Given the description of an element on the screen output the (x, y) to click on. 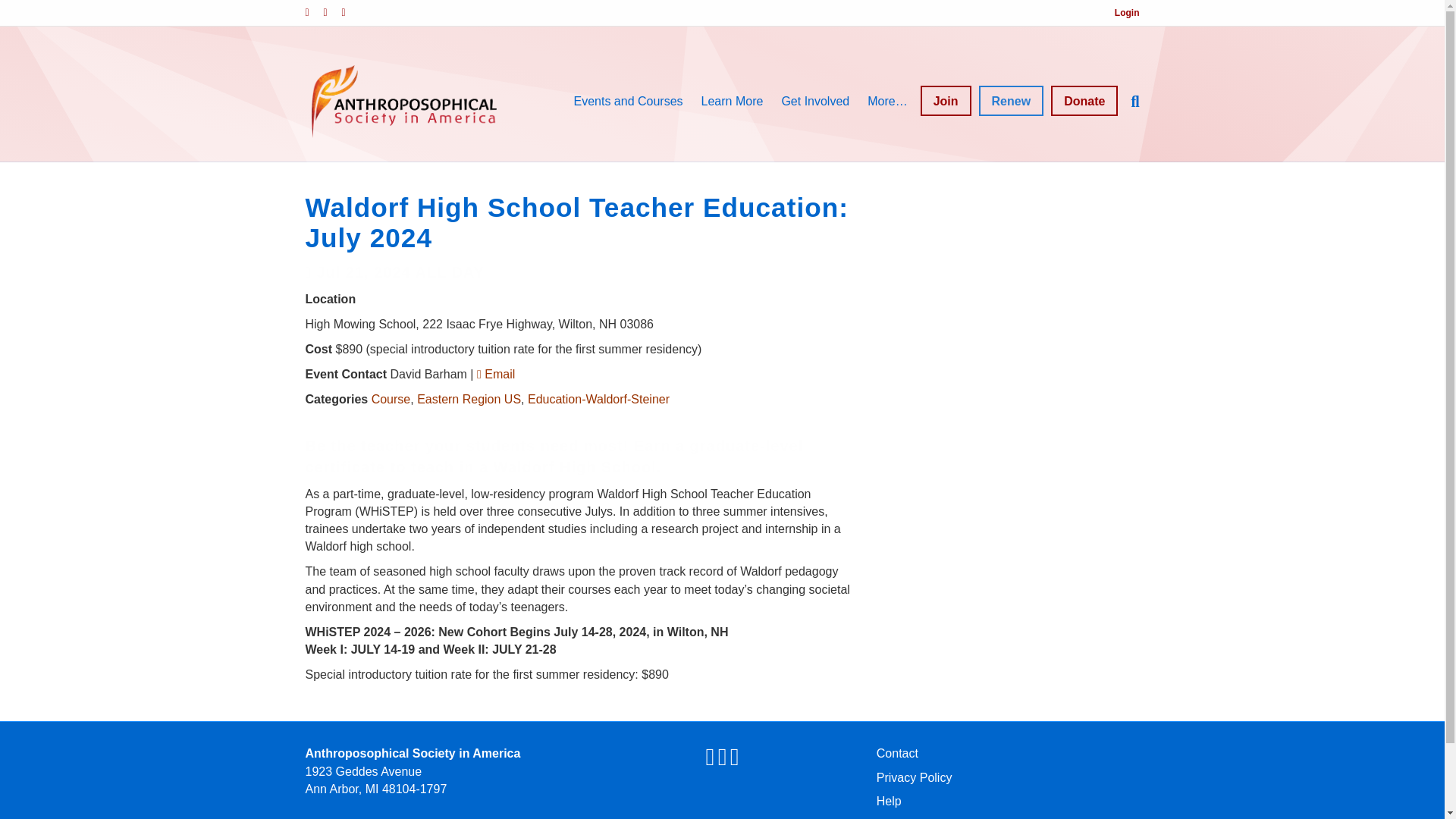
Instagram (331, 11)
Facebook (313, 11)
Login (1127, 12)
Email (349, 11)
Events and Courses (627, 101)
Learn More (733, 101)
